Given the description of an element on the screen output the (x, y) to click on. 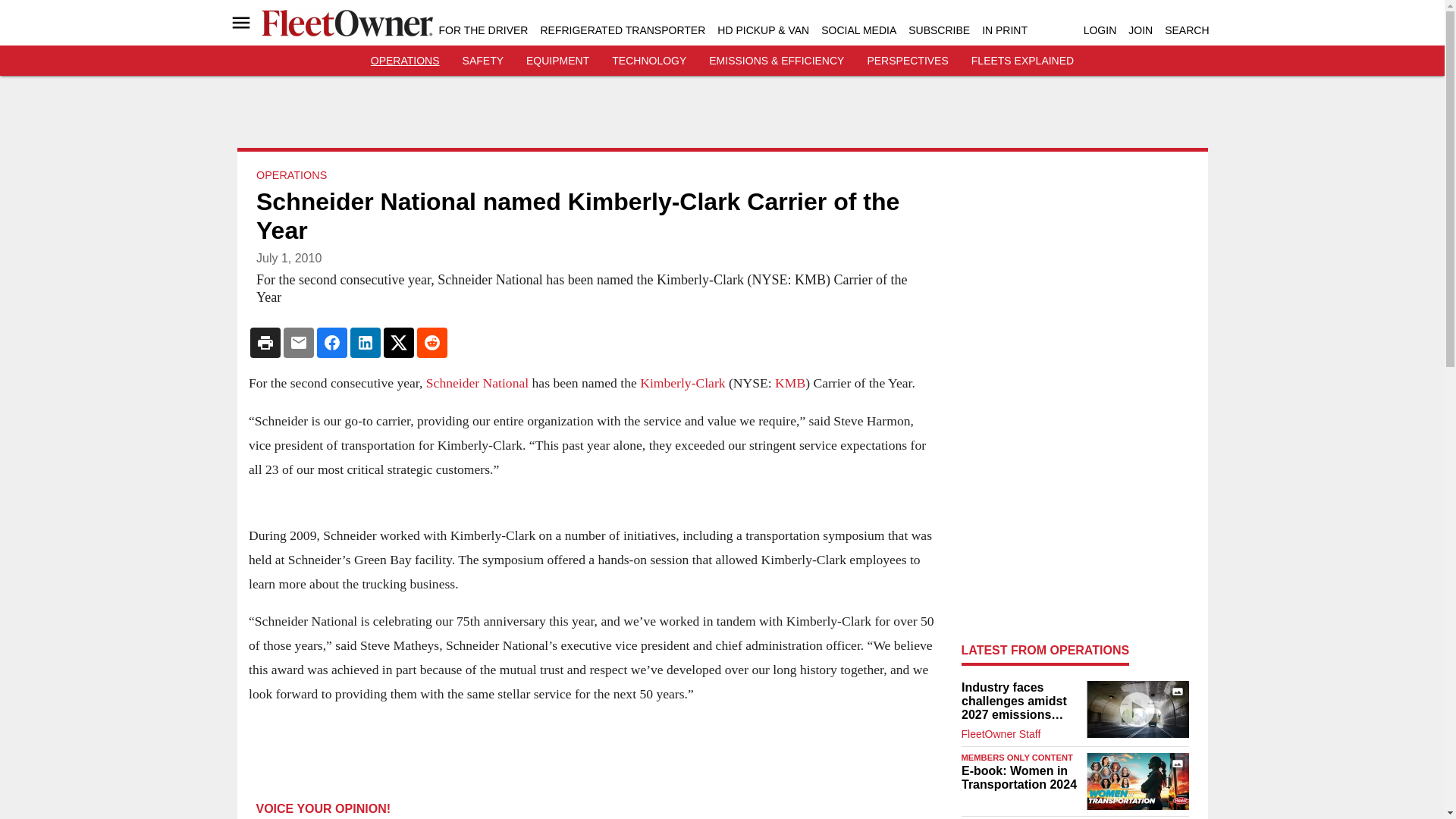
REFRIGERATED TRANSPORTER (622, 30)
JOIN (1140, 30)
PERSPECTIVES (906, 60)
SEARCH (1186, 30)
LOGIN (1099, 30)
SAFETY (483, 60)
SOCIAL MEDIA (858, 30)
FOR THE DRIVER (482, 30)
TECHNOLOGY (648, 60)
EQUIPMENT (557, 60)
